Given the description of an element on the screen output the (x, y) to click on. 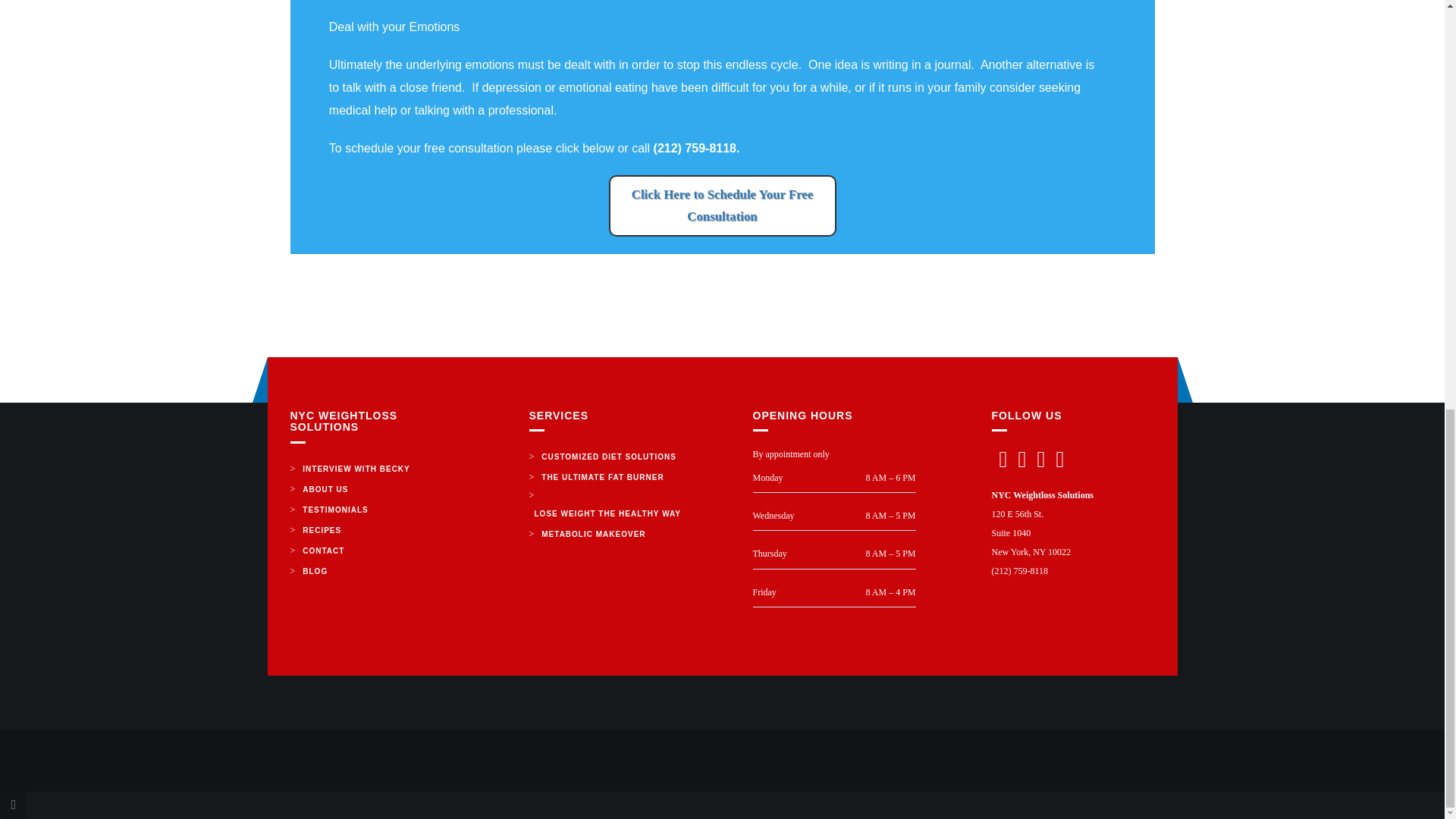
CUSTOMIZED DIET SOLUTIONS (608, 456)
TESTIMONIALS (334, 509)
ABOUT US (325, 489)
LOSE WEIGHT THE HEALTHY WAY (608, 513)
THE ULTIMATE FAT BURNER (601, 476)
METABOLIC MAKEOVER (592, 534)
BLOG (315, 571)
RECIPES (321, 530)
INTERVIEW WITH BECKY (355, 468)
CONTACT (323, 550)
Click Here to Schedule Your Free Consultation (721, 205)
